Given the description of an element on the screen output the (x, y) to click on. 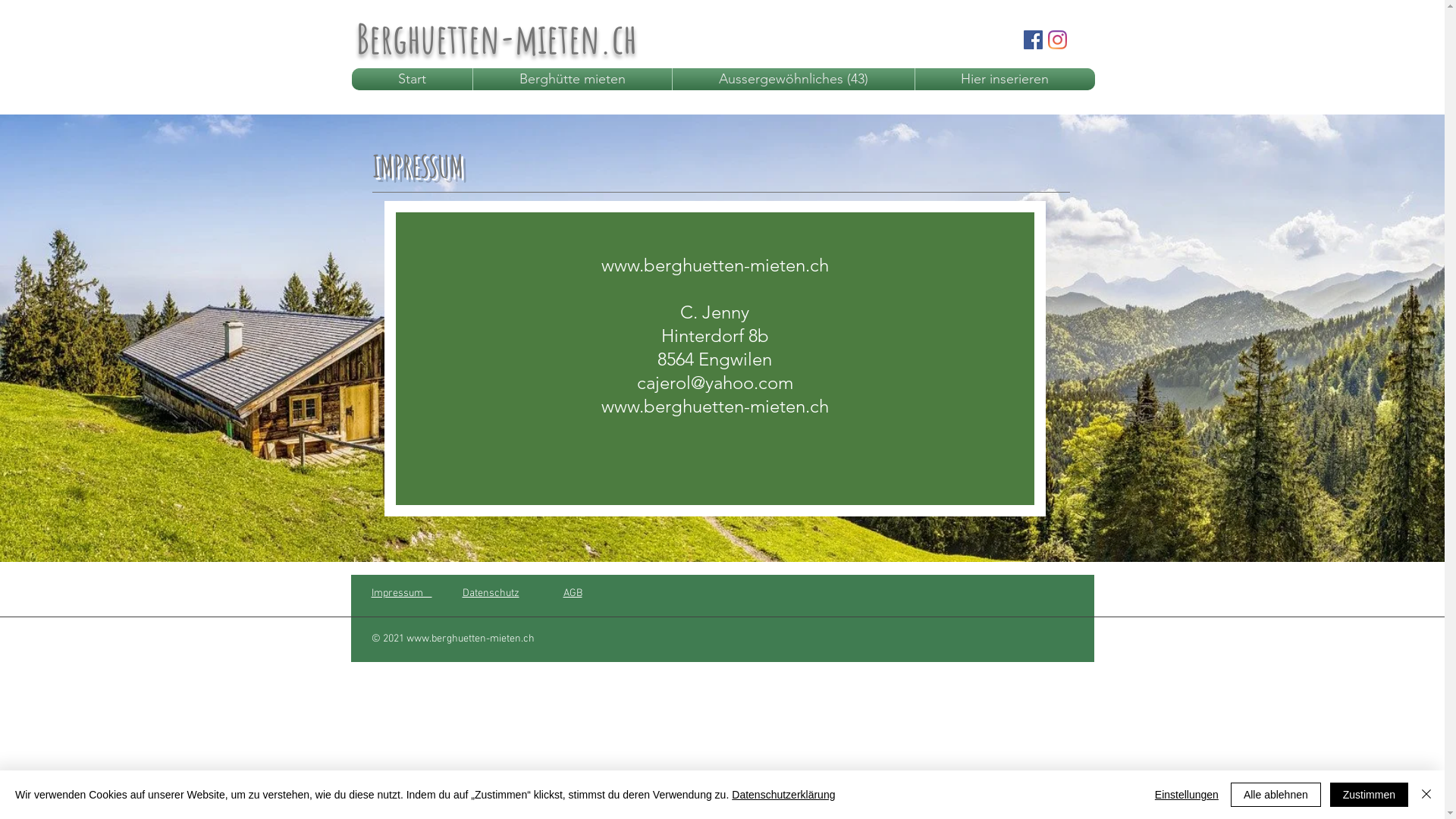
Start Element type: text (410, 79)
Zustimmen Element type: text (1369, 794)
Alle ablehnen Element type: text (1275, 794)
Hier inserieren Element type: text (1005, 79)
Berghuetten-mieten.ch Element type: text (496, 37)
Impressum     Element type: text (401, 592)
AGB Element type: text (571, 592)
cajerol@yahoo.com Element type: text (715, 382)
www.berghuetten-mieten.ch Element type: text (714, 265)
Datenschutz Element type: text (490, 592)
www.berghuetten-mieten.ch Element type: text (470, 638)
www.berghuetten-mieten.ch Element type: text (714, 406)
